Given the description of an element on the screen output the (x, y) to click on. 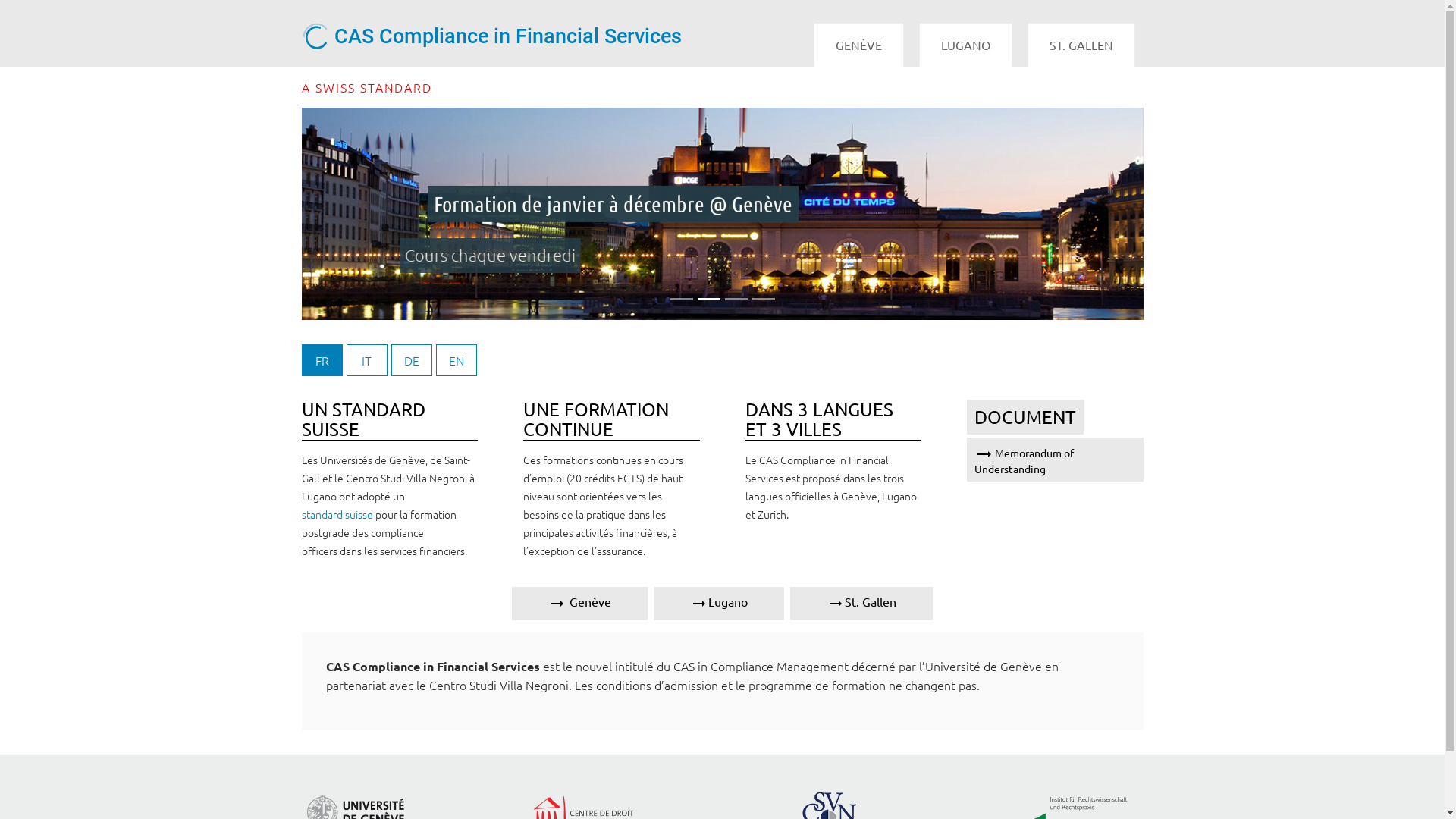
CAS Compliance in Financial Services Element type: text (542, 35)
standard suisse Element type: text (337, 513)
arrow_right_altLugano Element type: text (718, 603)
LUGANO Element type: text (965, 44)
IT Element type: text (365, 360)
EN Element type: text (455, 360)
DE Element type: text (411, 360)
FR Element type: text (321, 360)
arrow_right_altSt. Gallen Element type: text (861, 603)
ST. GALLEN Element type: text (1081, 44)
